Given the description of an element on the screen output the (x, y) to click on. 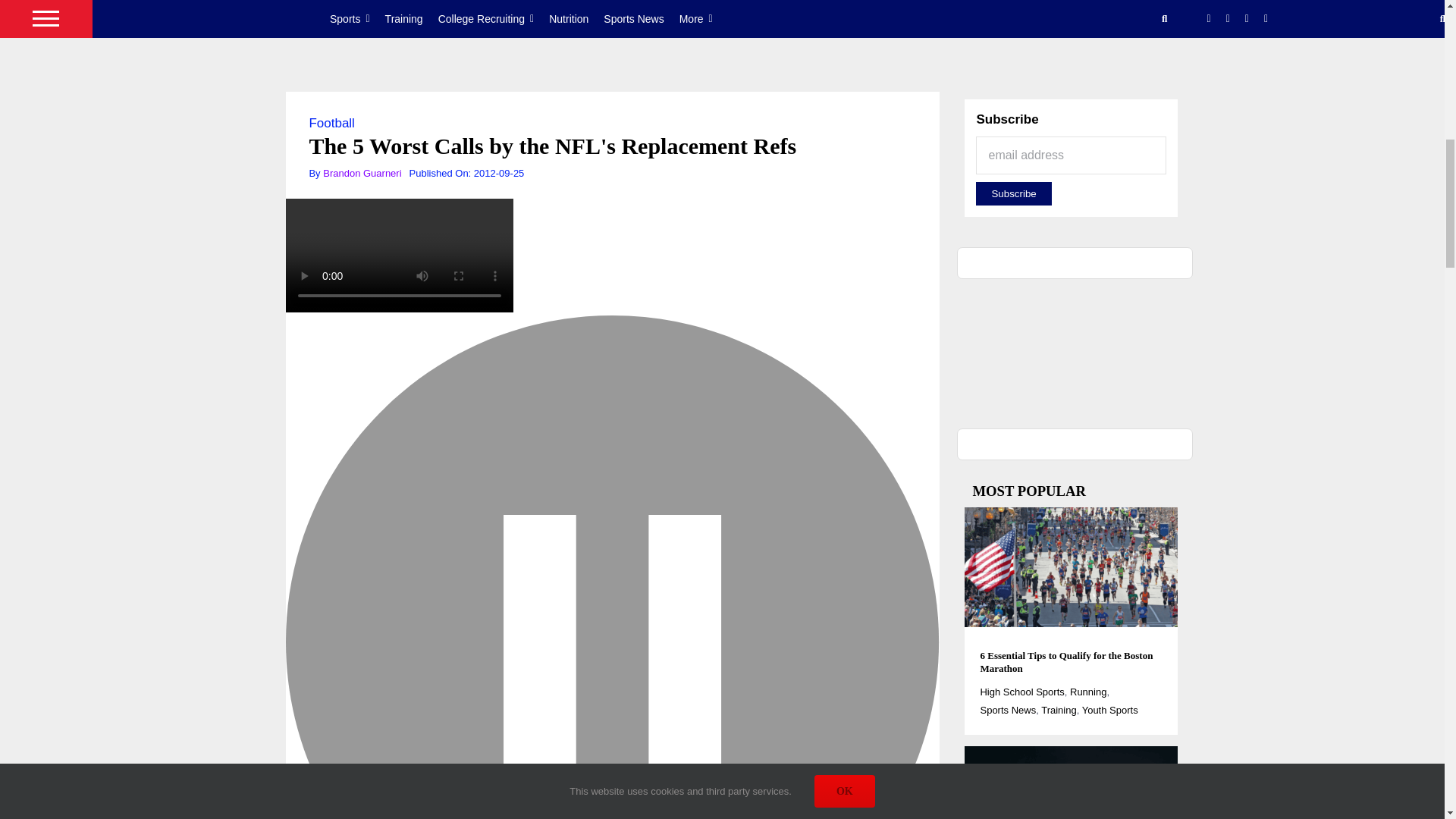
Subscribe (1013, 193)
Football (330, 123)
Posts by Brandon Guarneri (362, 173)
